Given the description of an element on the screen output the (x, y) to click on. 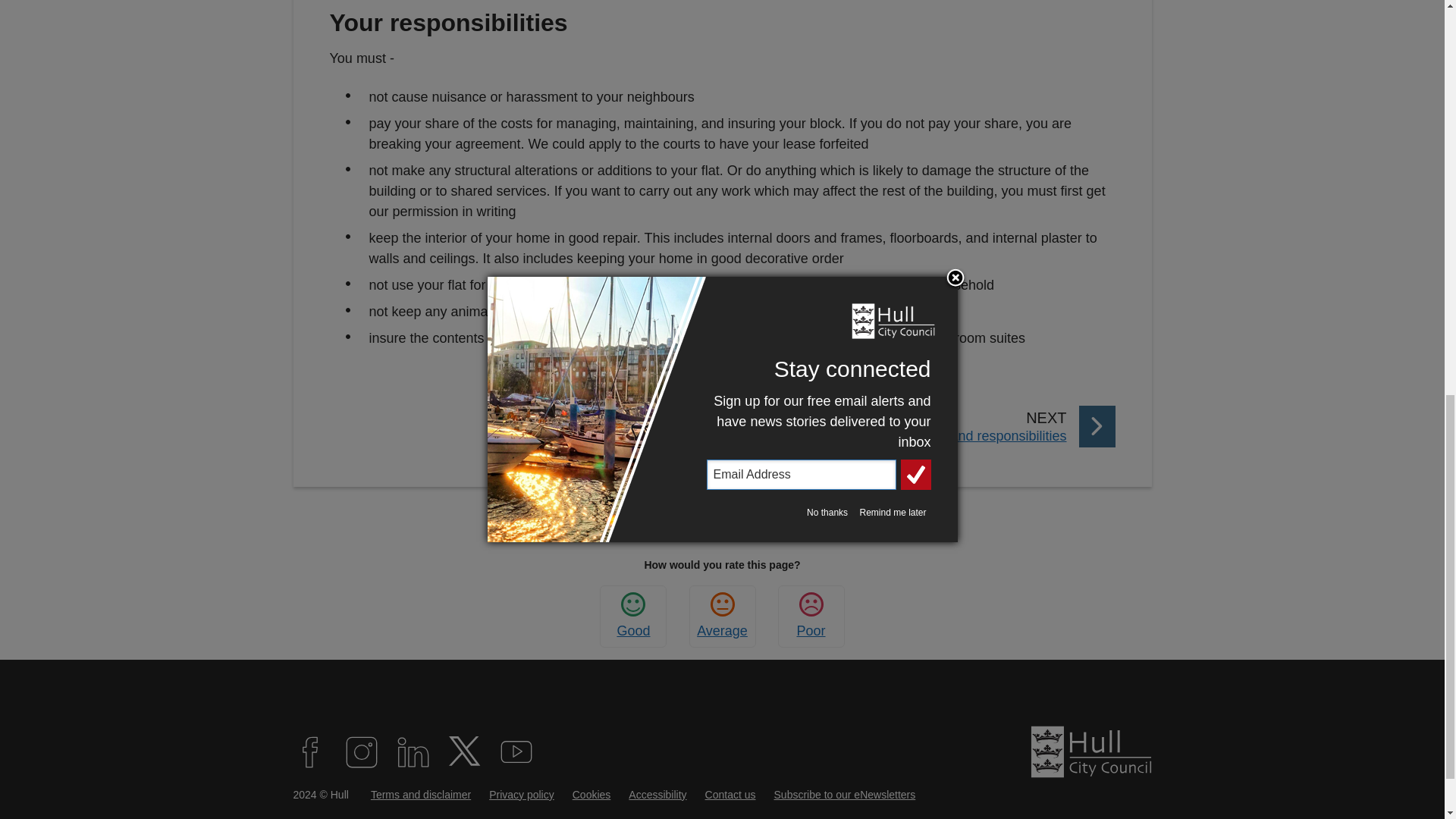
rate this page as poor (811, 615)
Subscribe to our eNewsletters (844, 794)
YOUTUBE (515, 751)
rate this page as good (633, 615)
rate this page as average (722, 615)
Contact us (729, 794)
Average (922, 426)
LINKEDIN (722, 615)
Good (412, 751)
Accessibility (633, 615)
Terms and disclaimer (656, 794)
Cookies (420, 794)
Privacy policy (591, 794)
FACEBOOK (521, 794)
